Given the description of an element on the screen output the (x, y) to click on. 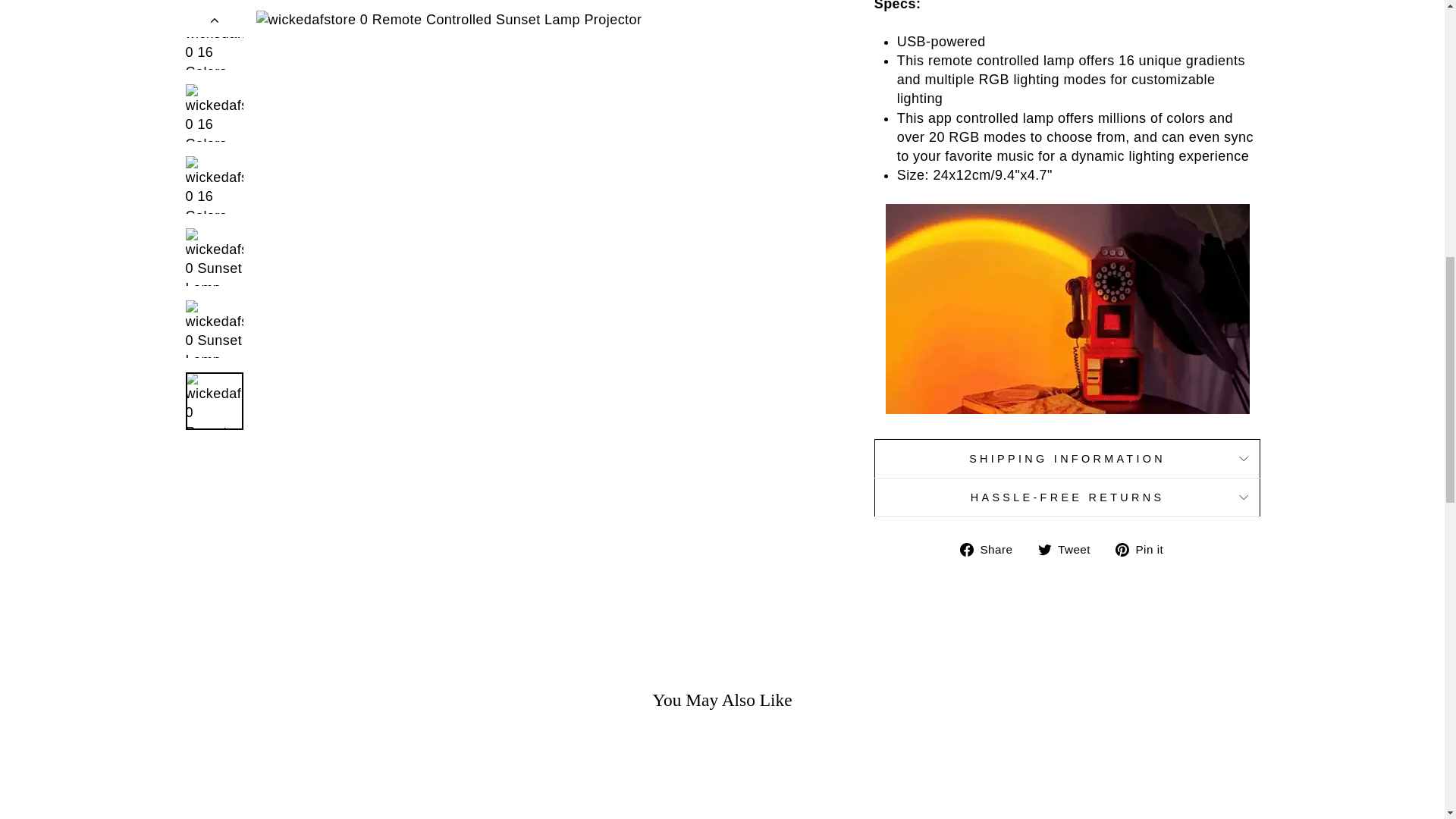
Pin on Pinterest (1144, 548)
Tweet on Twitter (1069, 548)
Share on Facebook (992, 548)
